Given the description of an element on the screen output the (x, y) to click on. 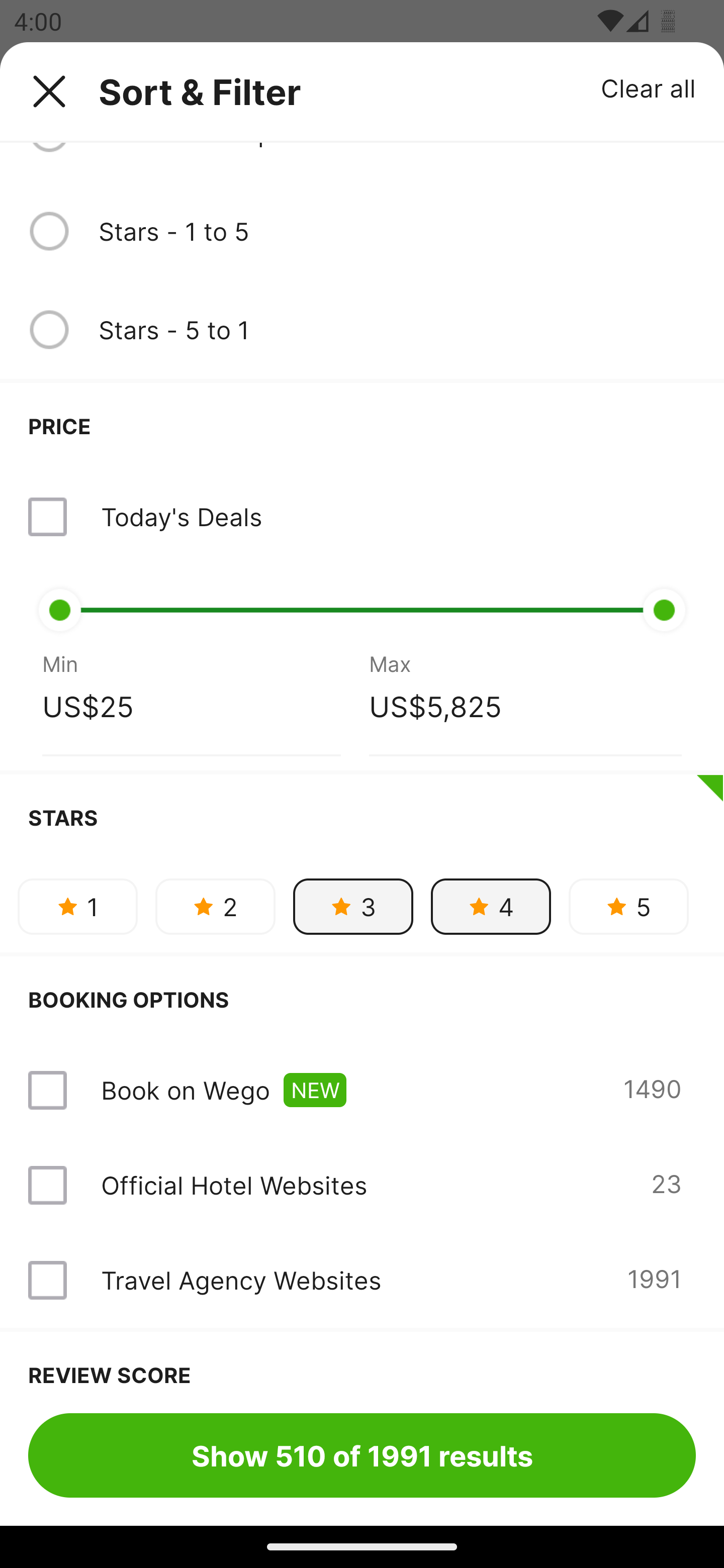
Clear all (648, 87)
Stars - 1 to 5 (362, 230)
Stars - 1 to 5 (396, 231)
Stars - 5 to 1 (362, 329)
Stars - 5 to 1 (396, 329)
Today's Deals (362, 516)
Today's Deals (181, 516)
1 (77, 906)
2 (214, 906)
3 (352, 906)
4 (491, 906)
5 (627, 906)
Book on Wego NEW 1490 (362, 1090)
Book on Wego (184, 1089)
Official Hotel Websites 23 (362, 1185)
Official Hotel Websites (233, 1185)
Travel Agency Websites 1991 (362, 1280)
Travel Agency Websites (240, 1280)
Show 510 of 1991 results (361, 1454)
